Given the description of an element on the screen output the (x, y) to click on. 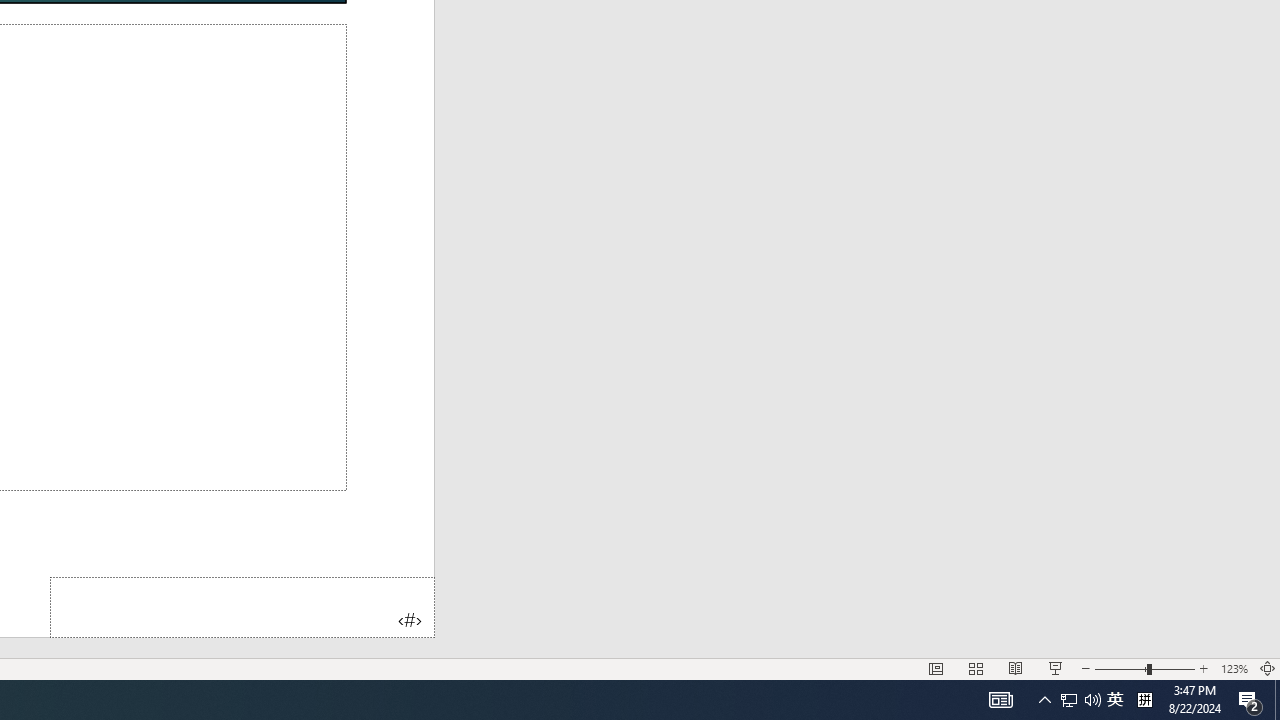
Page Number (242, 606)
Zoom 123% (1234, 668)
